Given the description of an element on the screen output the (x, y) to click on. 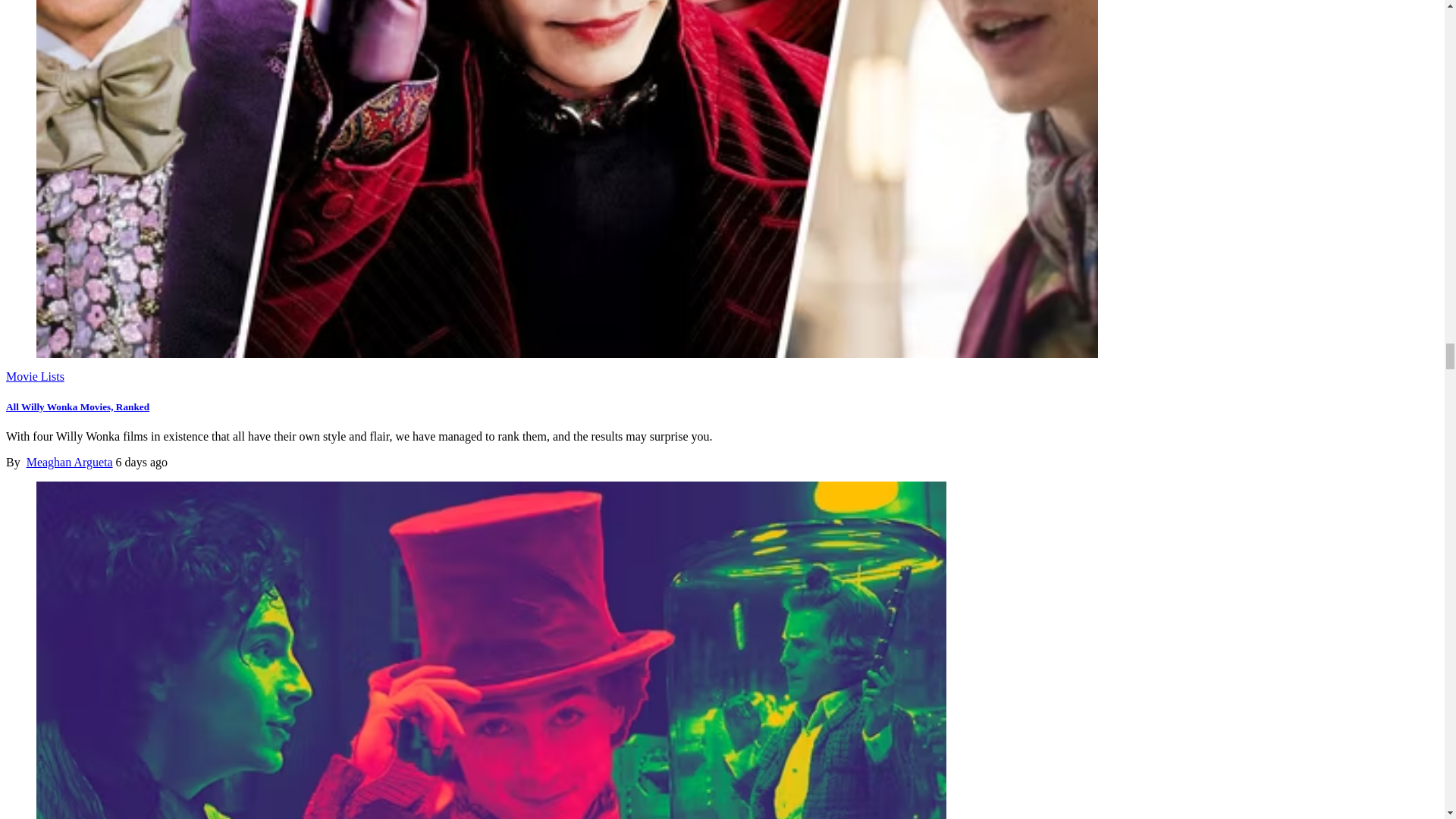
Posts by Meaghan Argueta (69, 461)
